Given the description of an element on the screen output the (x, y) to click on. 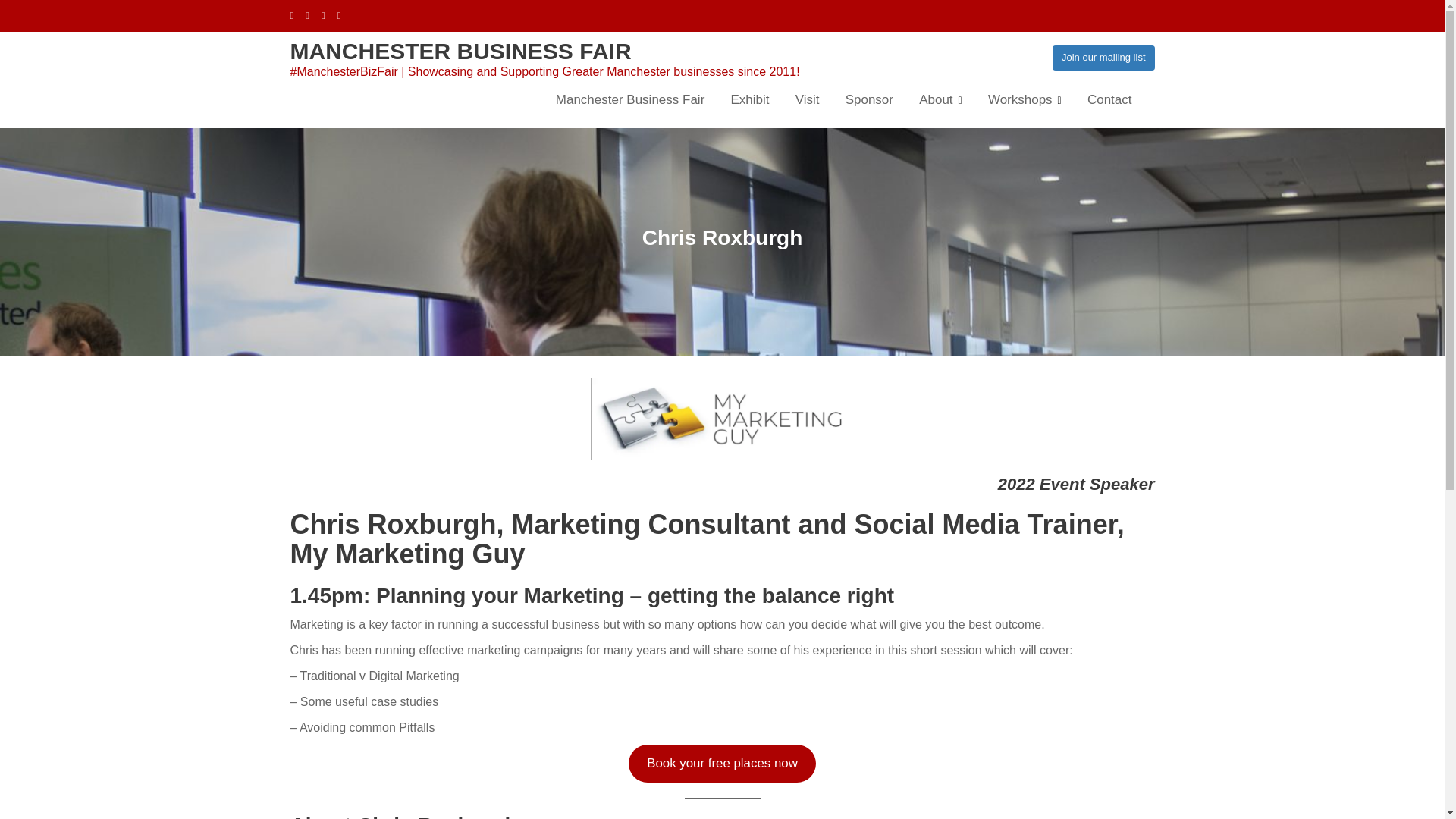
Book your free places now (722, 763)
Workshops (1024, 100)
About (940, 100)
Contact (1108, 99)
my-marketing-guy (721, 419)
Sponsor (869, 99)
Manchester Business Fair (459, 50)
MANCHESTER BUSINESS FAIR (459, 50)
Manchester Business Fair (630, 99)
Visit (807, 99)
